Given the description of an element on the screen output the (x, y) to click on. 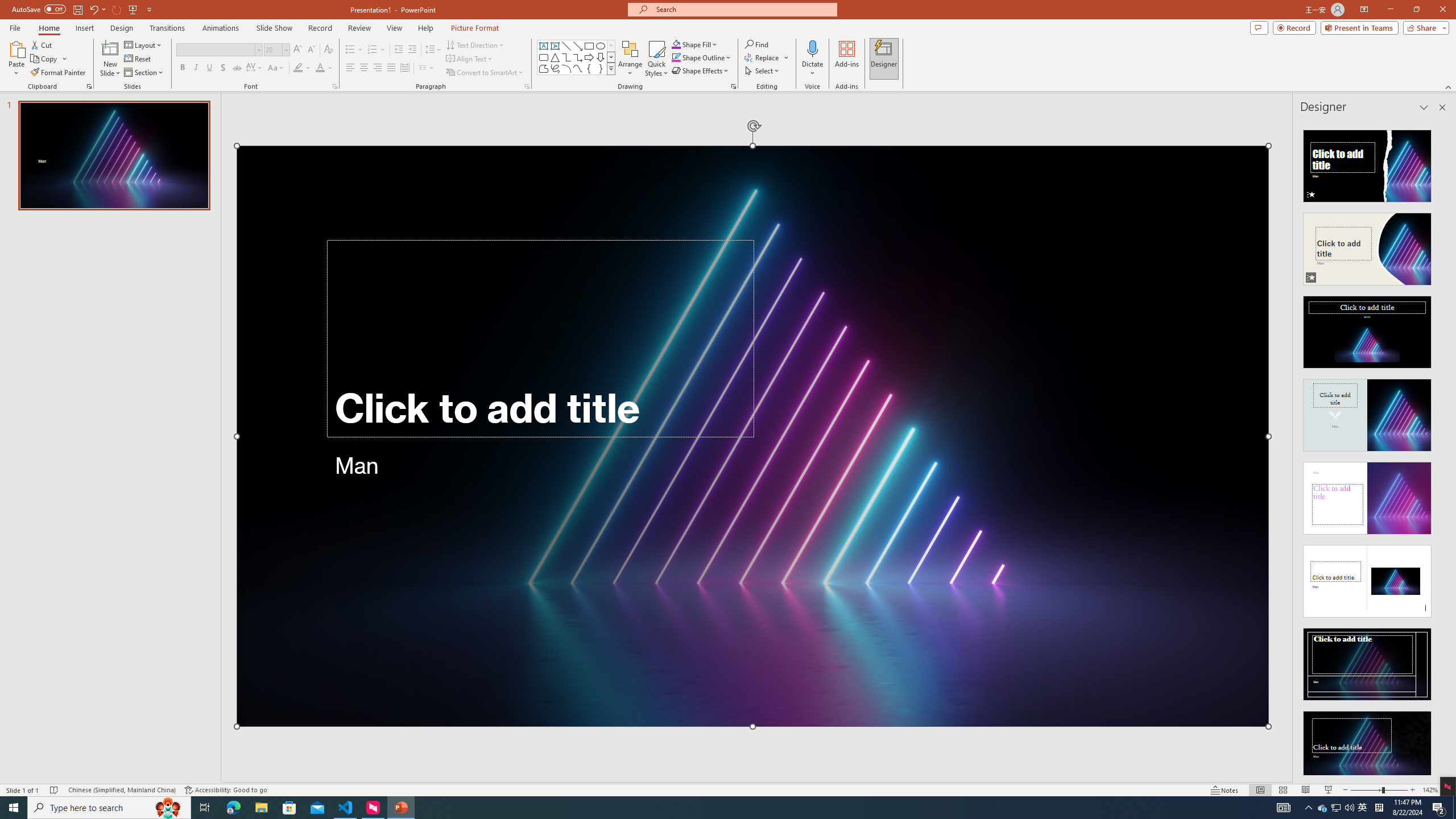
Recommended Design: Animation (1366, 162)
